Given the description of an element on the screen output the (x, y) to click on. 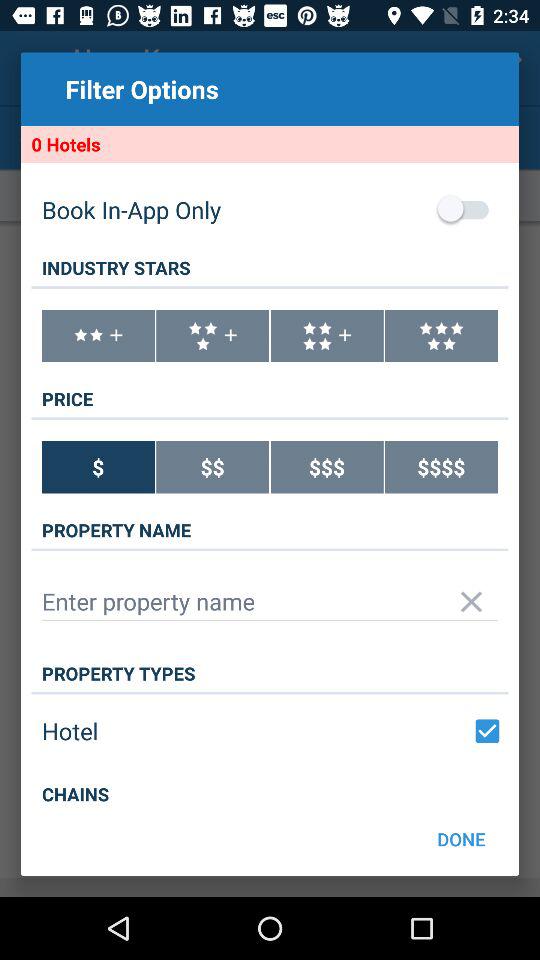
rate 3 and 1/2 stars (212, 335)
